Given the description of an element on the screen output the (x, y) to click on. 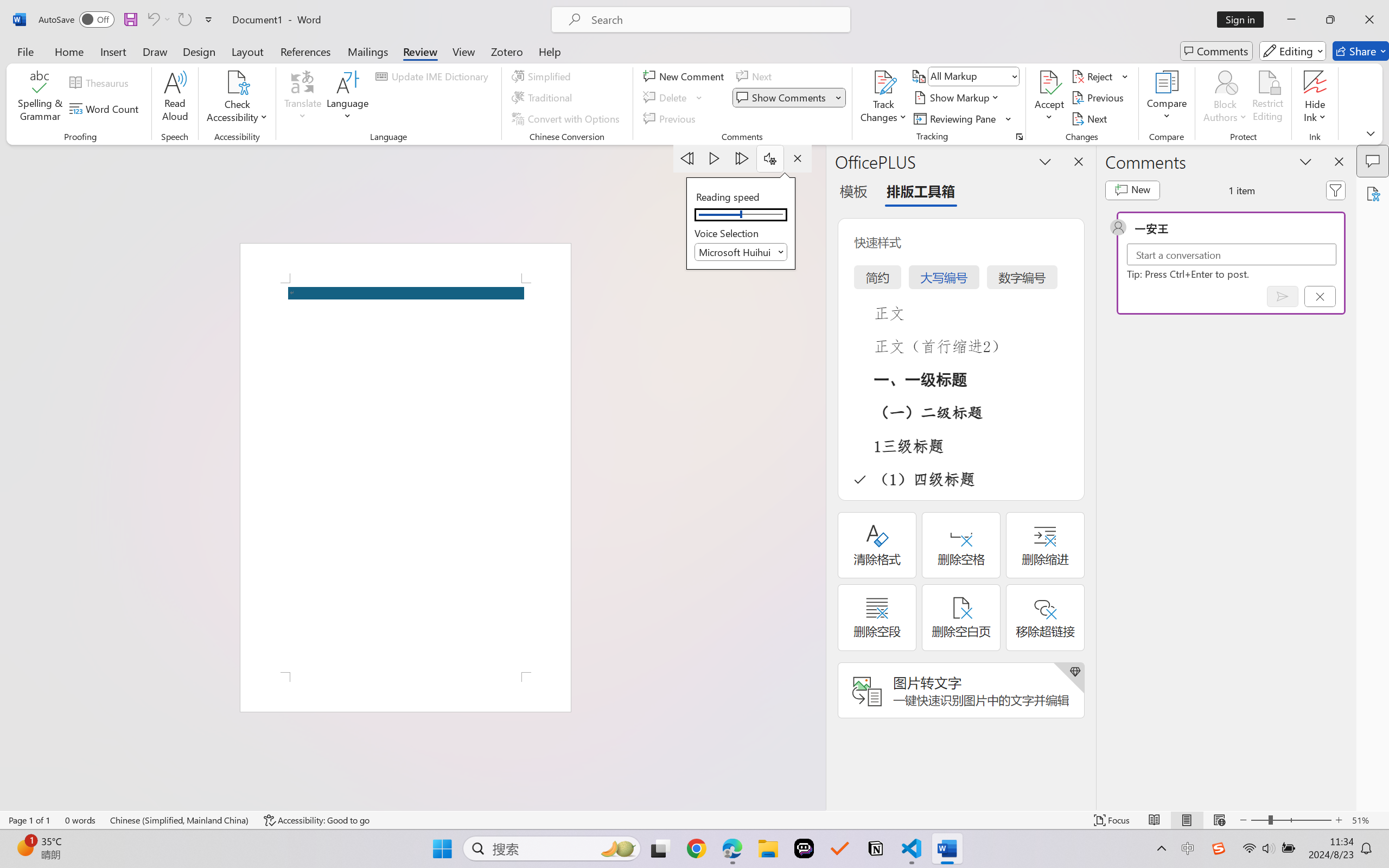
Voice Selection (740, 252)
New Comment (685, 75)
Undo Apply Quick Style Set (158, 19)
Google Chrome (696, 848)
Play (715, 158)
Display for Review (973, 75)
